Given the description of an element on the screen output the (x, y) to click on. 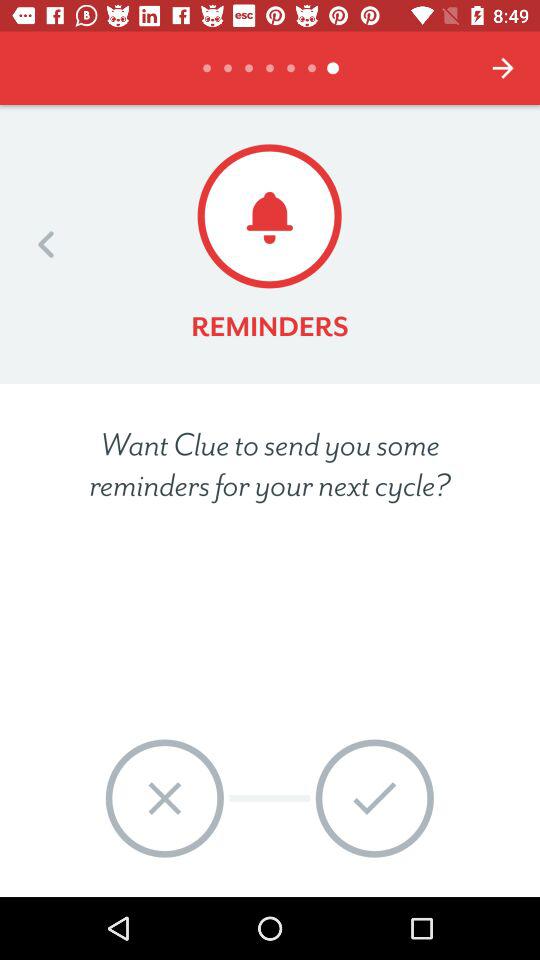
swipe until the ok icon (374, 798)
